Given the description of an element on the screen output the (x, y) to click on. 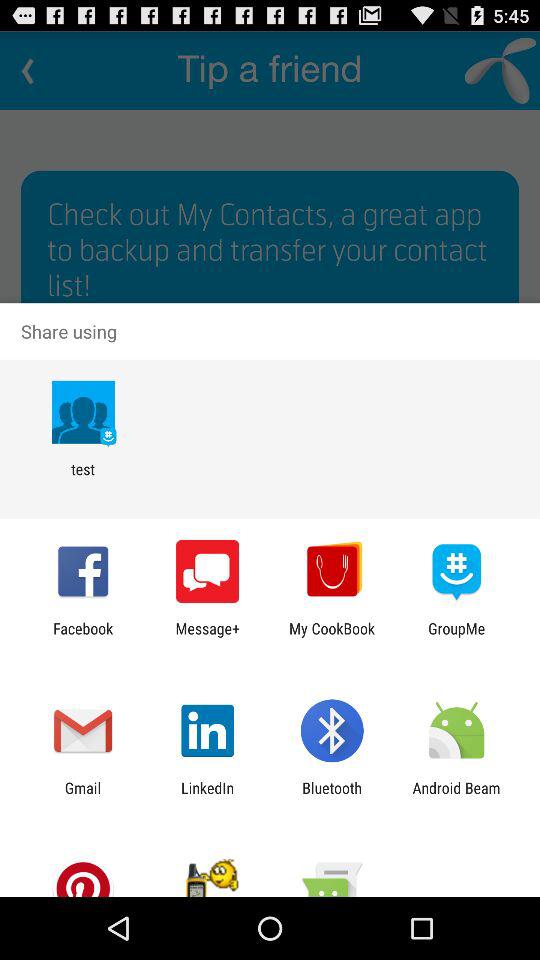
tap the app next to my cookbook icon (207, 637)
